Given the description of an element on the screen output the (x, y) to click on. 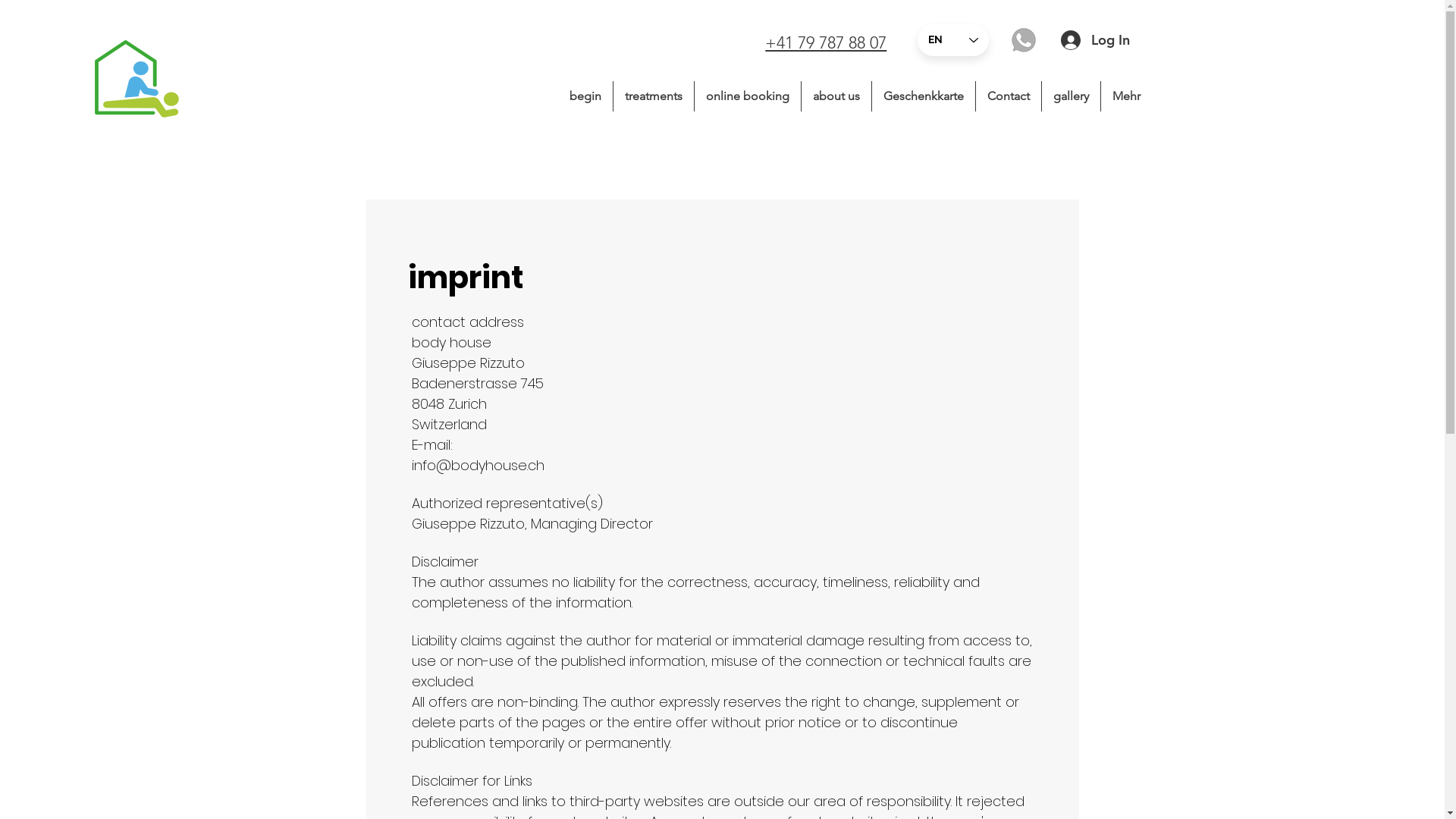
info@bodyhouse.ch Element type: text (477, 464)
online booking Element type: text (747, 96)
treatments Element type: text (653, 96)
Contact Element type: text (1008, 96)
+41 79 787 88 07 Element type: text (825, 42)
Geschenkkarte Element type: text (923, 96)
begin Element type: text (585, 96)
gallery Element type: text (1070, 96)
Log In Element type: text (1082, 39)
about us Element type: text (836, 96)
